Given the description of an element on the screen output the (x, y) to click on. 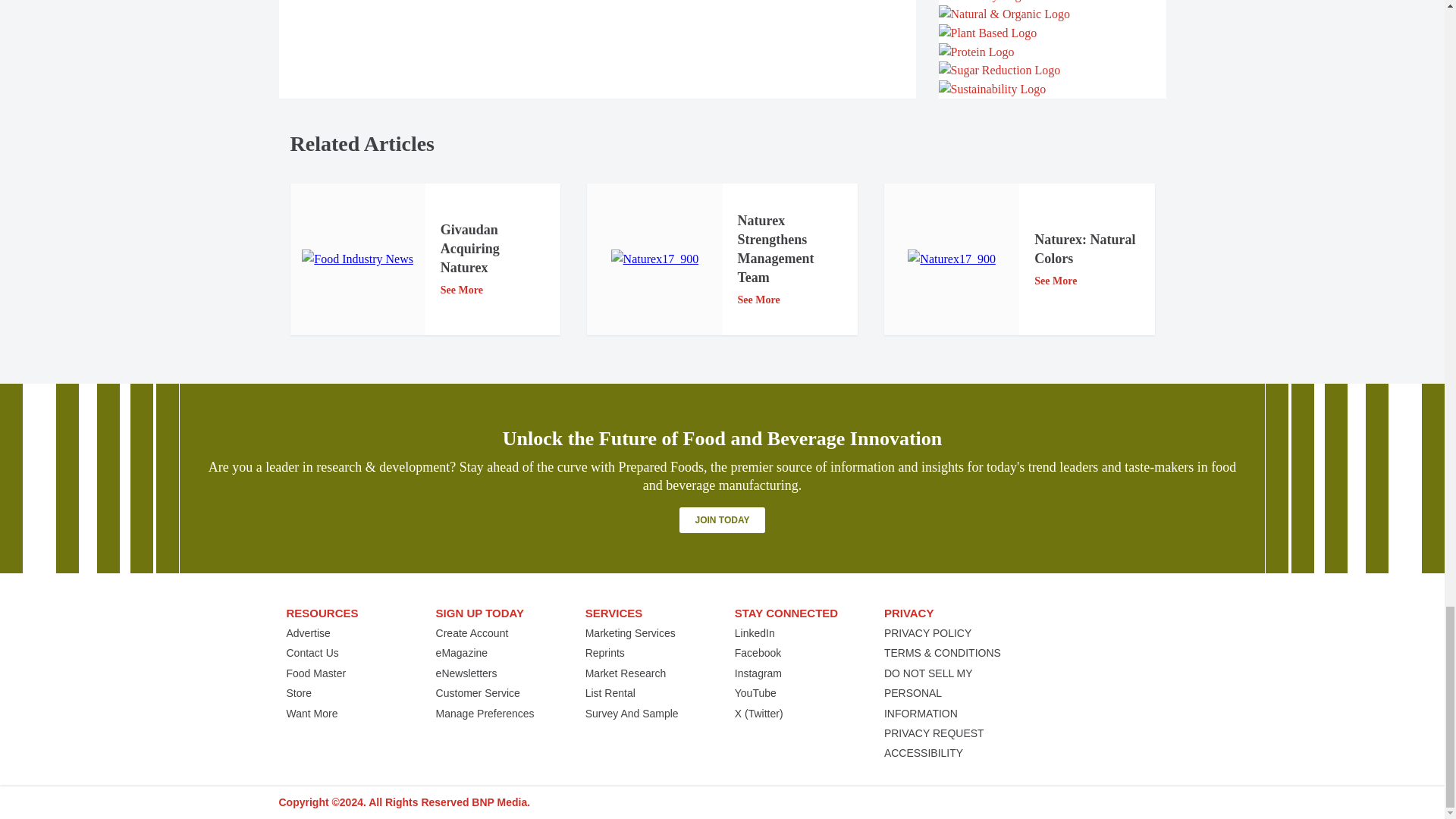
Food Industry News (357, 259)
